Given the description of an element on the screen output the (x, y) to click on. 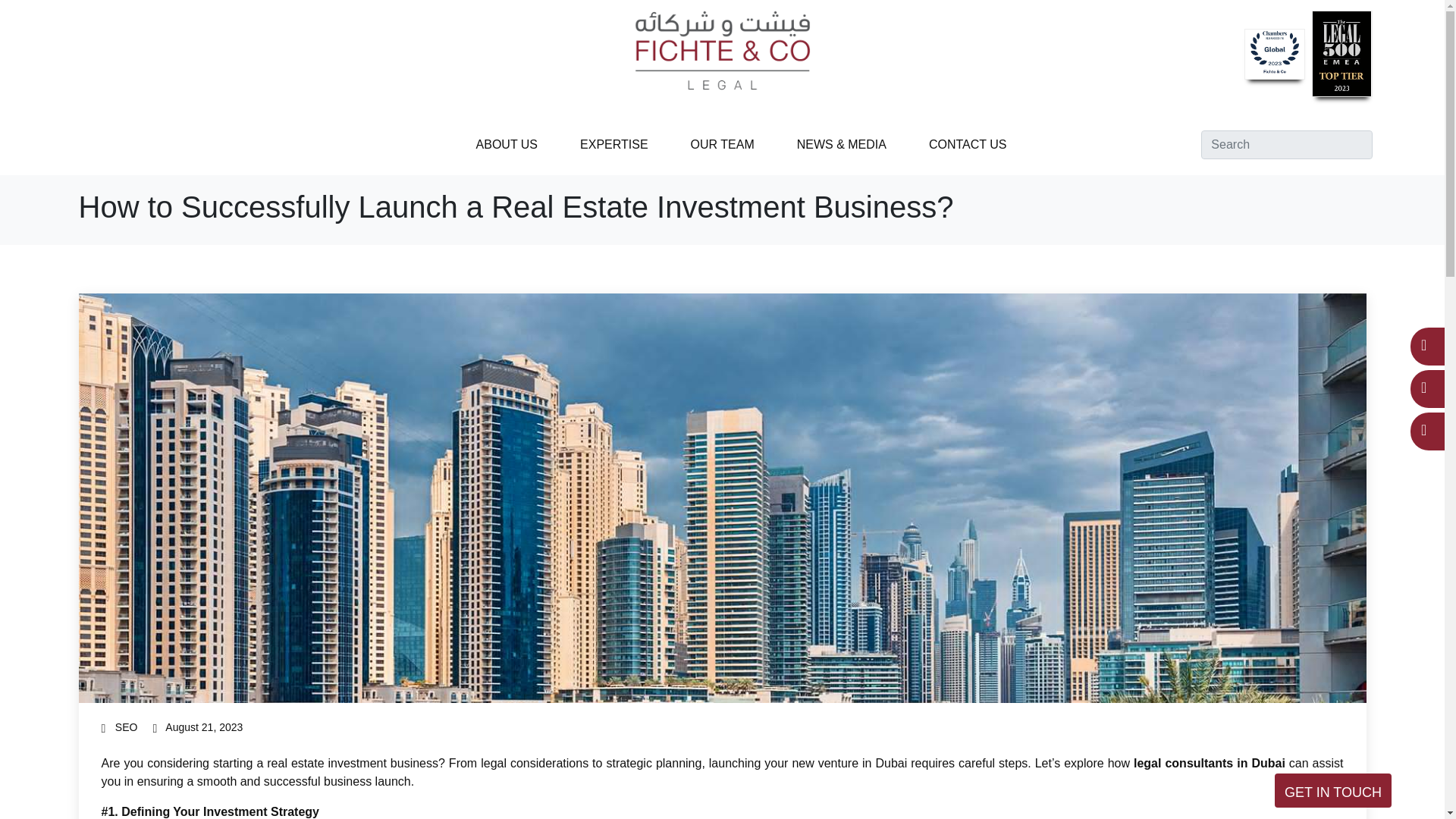
August 21, 2023 (197, 727)
SEO (126, 727)
OUR TEAM (722, 144)
EXPERTISE (613, 144)
CONTACT US (968, 144)
ABOUT US (507, 144)
GET IN TOUCH (1333, 790)
